Given the description of an element on the screen output the (x, y) to click on. 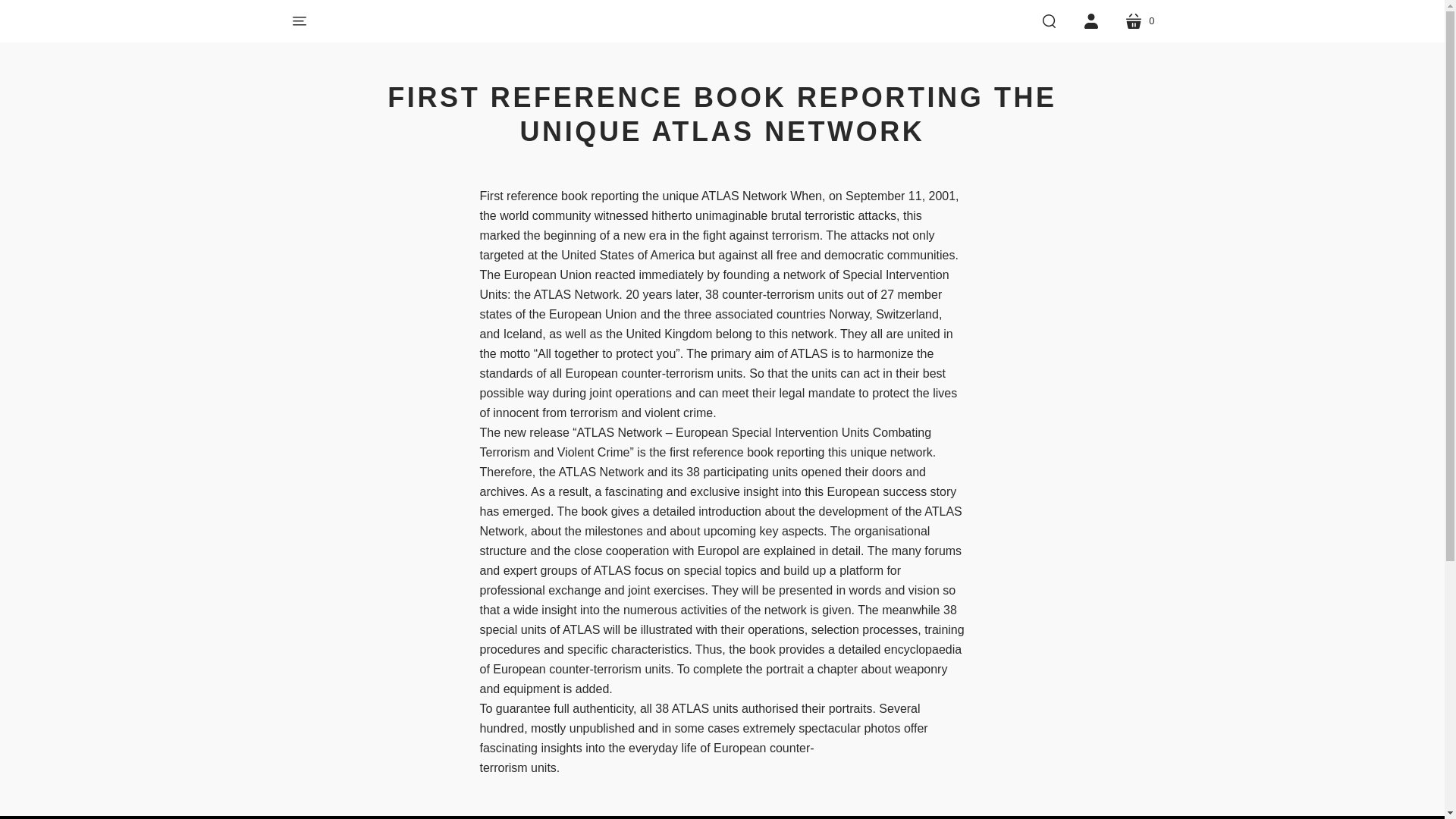
menu (299, 21)
account (1091, 21)
search (1048, 21)
